Given the description of an element on the screen output the (x, y) to click on. 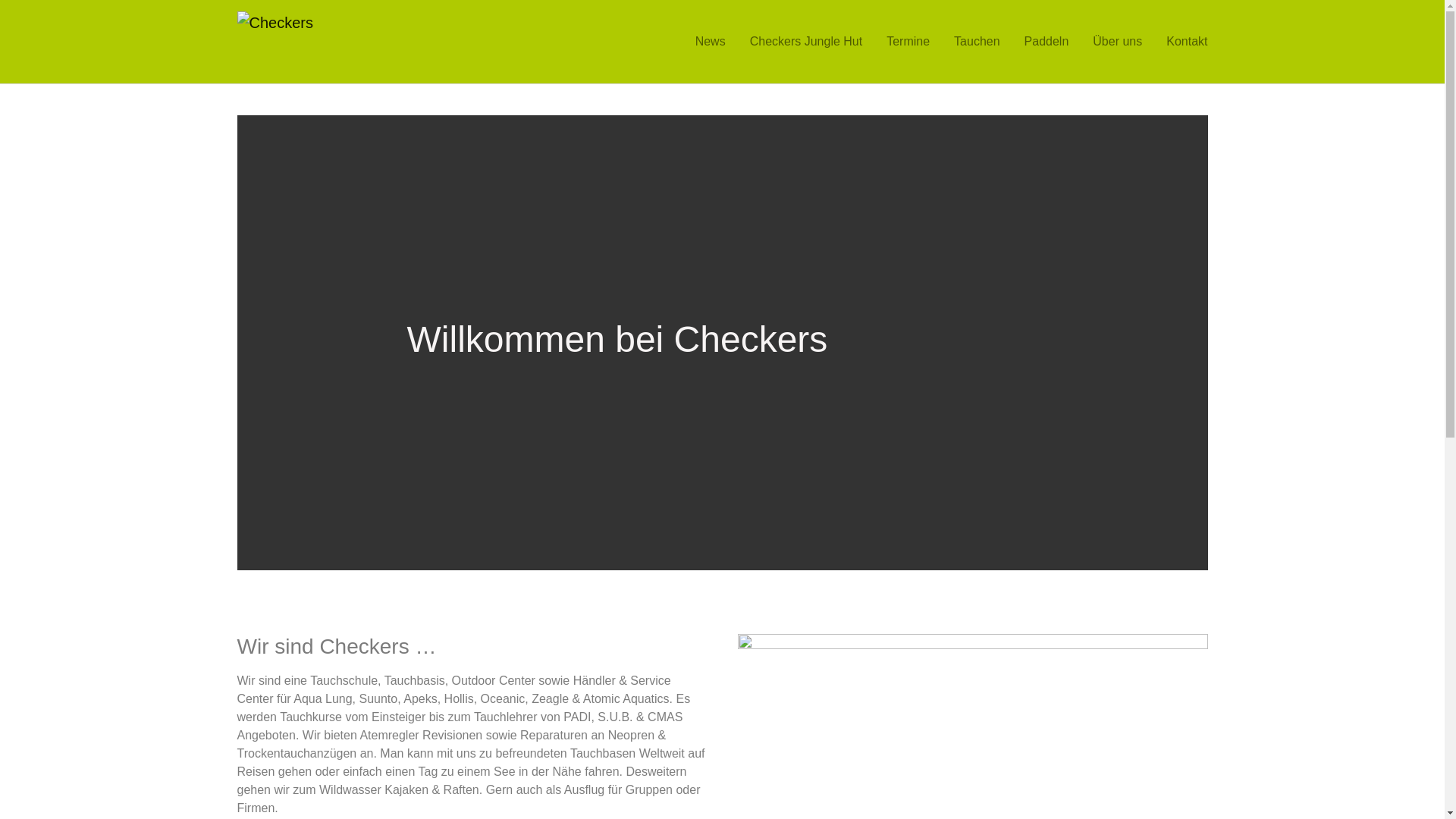
Termine Element type: text (907, 41)
News Element type: text (710, 41)
Checkers Jungle Hut Element type: text (806, 41)
Checkers Element type: hover (348, 41)
Tauchen Element type: text (976, 41)
Paddeln Element type: text (1046, 41)
Kontakt Element type: text (1186, 41)
